Given the description of an element on the screen output the (x, y) to click on. 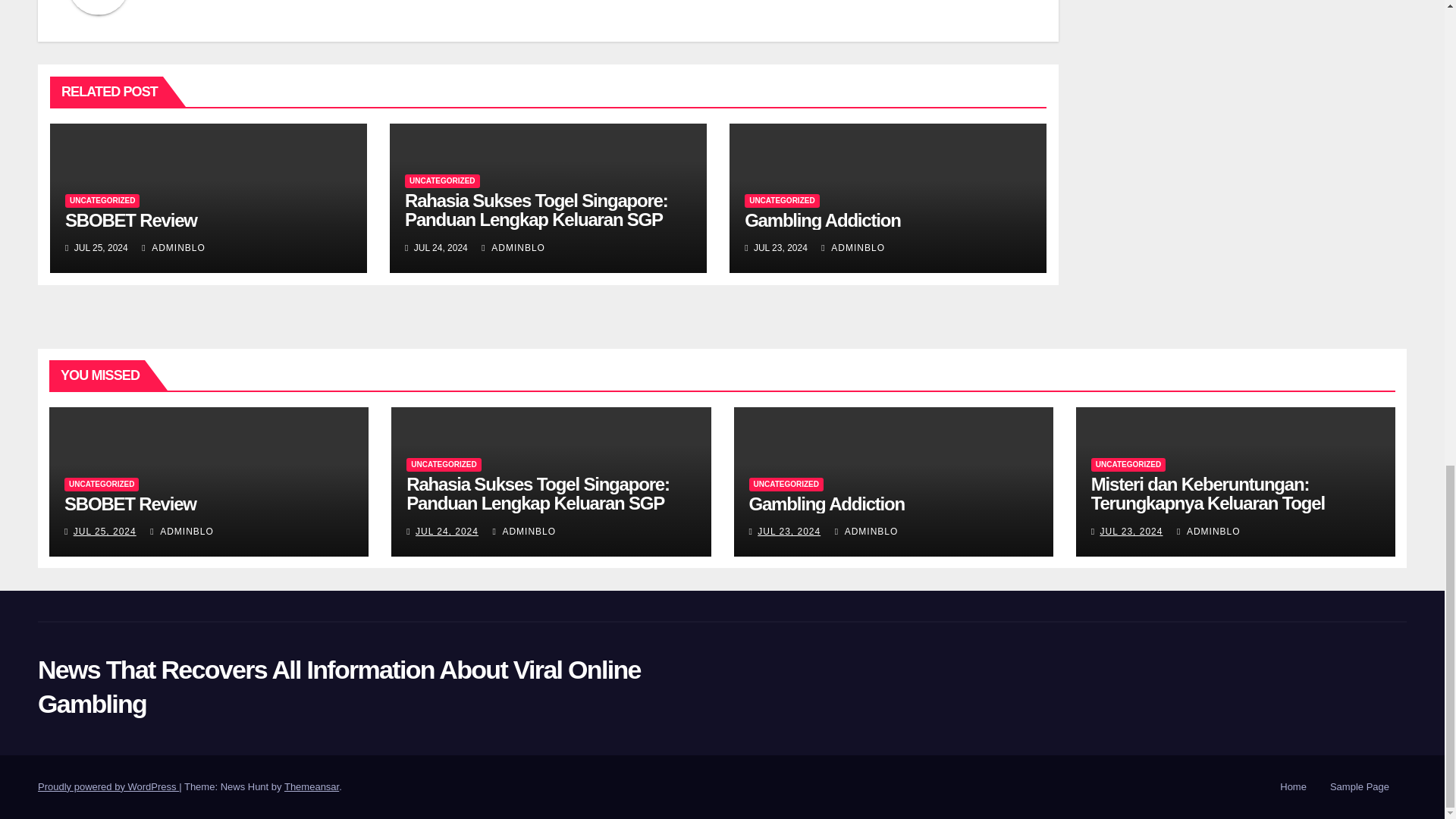
ADMINBLO (173, 247)
Permalink to: SBOBET Review (130, 503)
UNCATEGORIZED (102, 201)
UNCATEGORIZED (781, 201)
Gambling Addiction (822, 219)
Permalink to: Gambling Addiction (827, 503)
SBOBET Review (130, 219)
Permalink to: SBOBET Review (130, 219)
Home (1293, 786)
UNCATEGORIZED (441, 181)
ADMINBLO (853, 247)
